Given the description of an element on the screen output the (x, y) to click on. 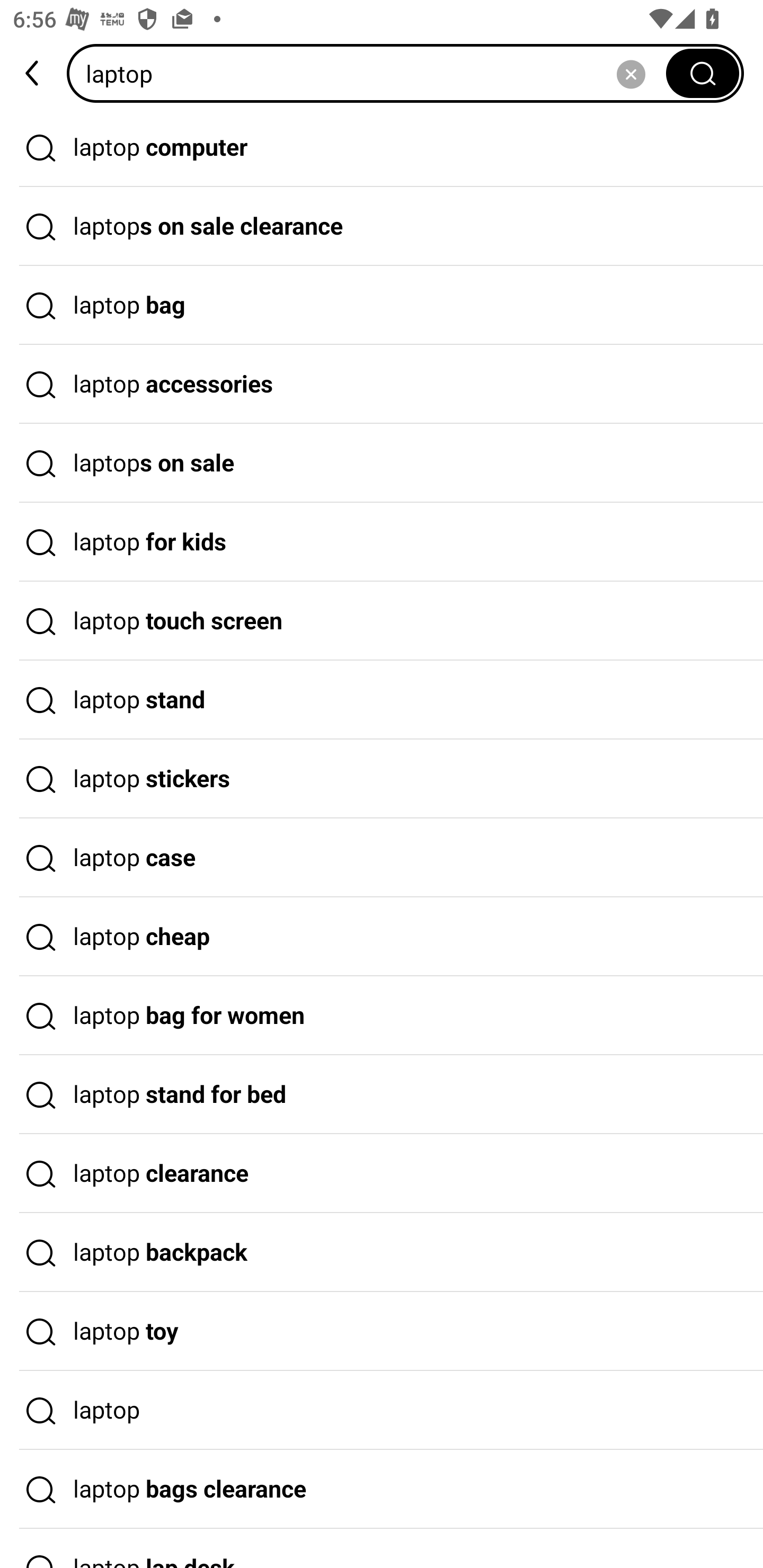
back (33, 72)
laptop (372, 73)
Delete search history (630, 73)
laptop computer (381, 147)
laptops on sale clearance (381, 226)
laptop bag (381, 305)
laptop accessories (381, 383)
laptops on sale (381, 463)
laptop for kids (381, 542)
laptop touch screen (381, 620)
laptop stand (381, 700)
laptop stickers (381, 779)
laptop case (381, 857)
laptop cheap (381, 936)
laptop bag for women (381, 1015)
laptop stand for bed (381, 1094)
laptop clearance (381, 1173)
laptop backpack (381, 1252)
laptop toy (381, 1331)
laptop (381, 1410)
laptop bags clearance (381, 1489)
